Given the description of an element on the screen output the (x, y) to click on. 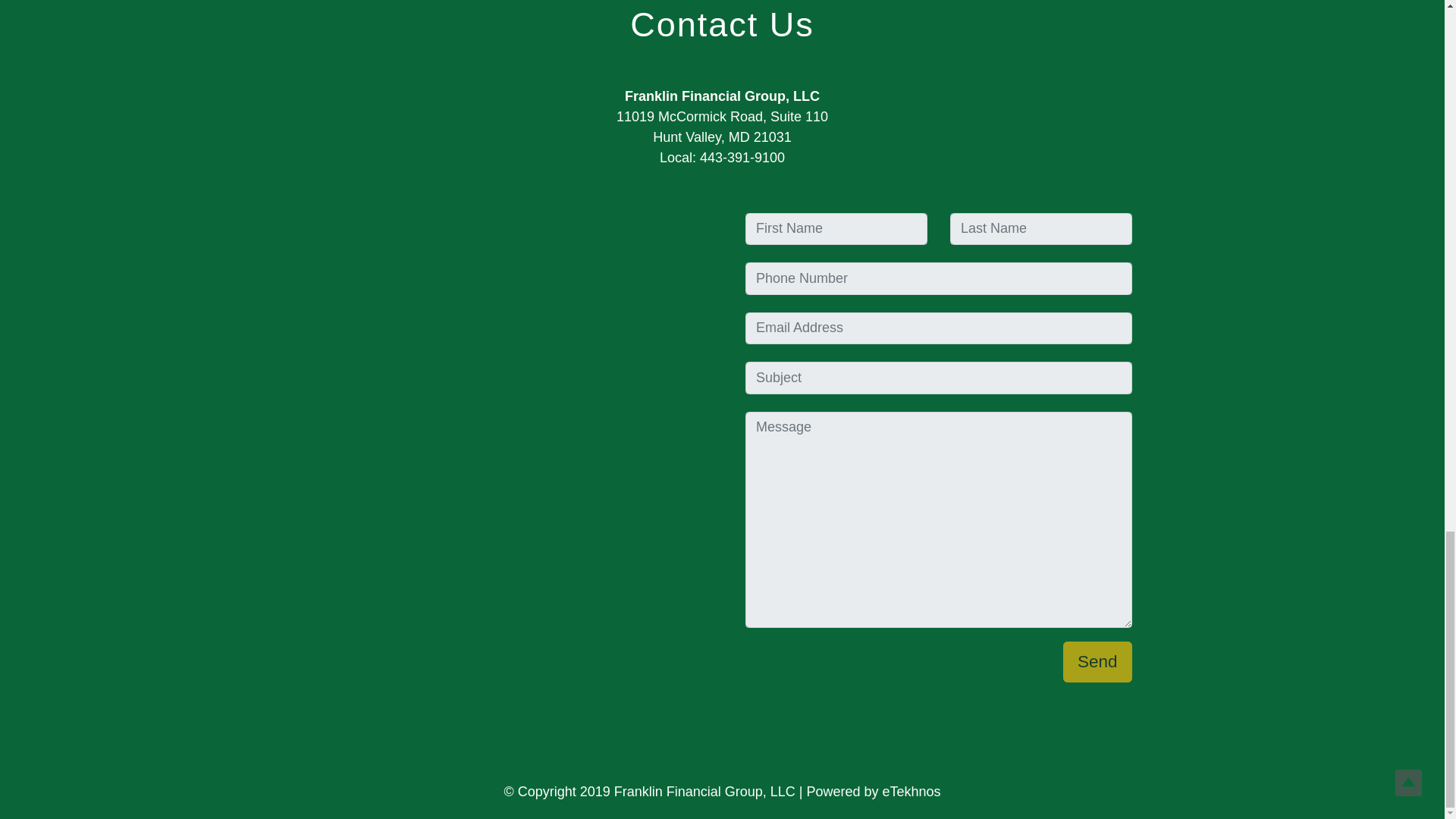
Send (1097, 661)
eTekhnos (911, 791)
Send (1097, 661)
